Given the description of an element on the screen output the (x, y) to click on. 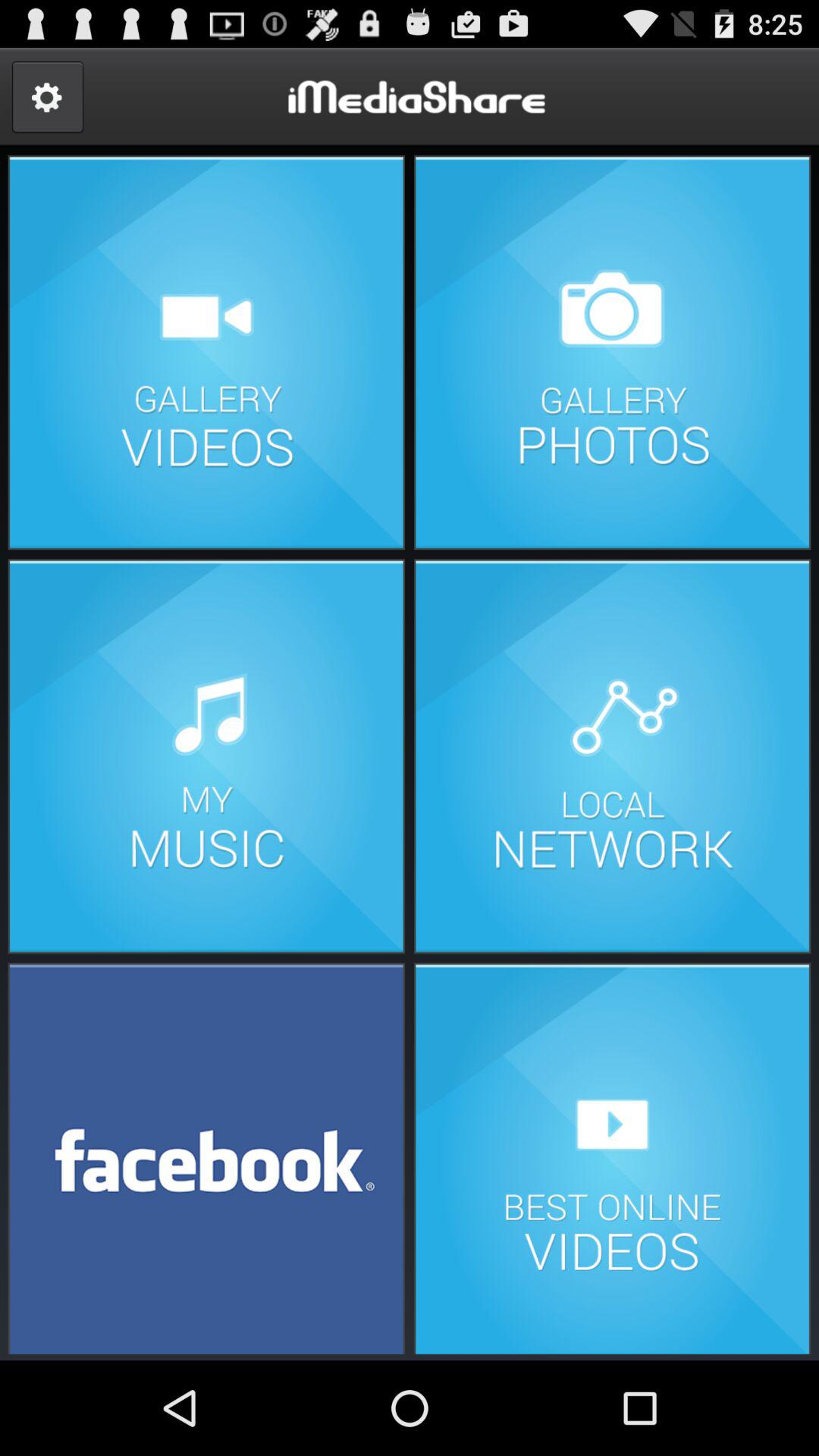
go to my music (206, 756)
